Given the description of an element on the screen output the (x, y) to click on. 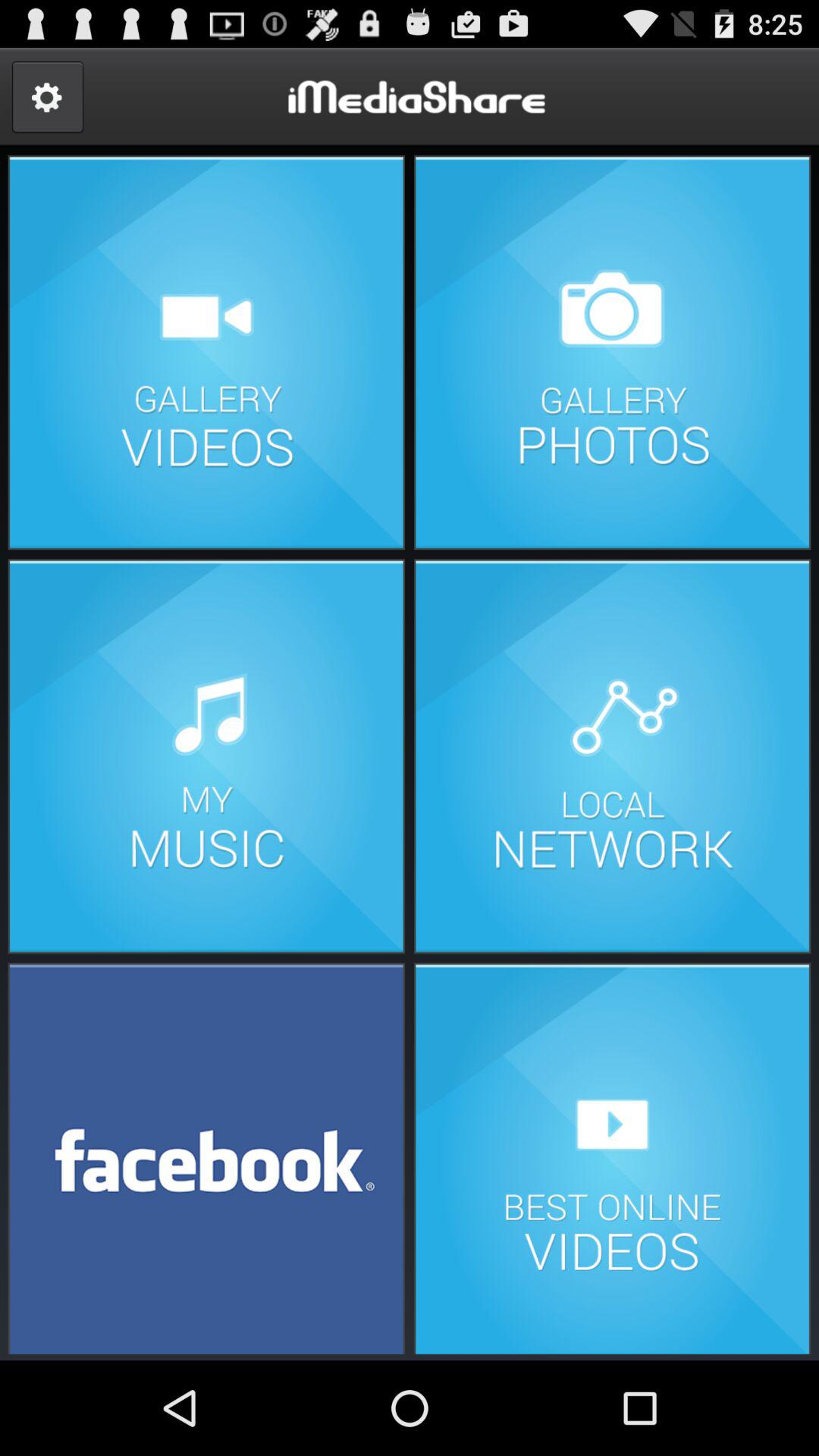
go to my music (206, 756)
